Given the description of an element on the screen output the (x, y) to click on. 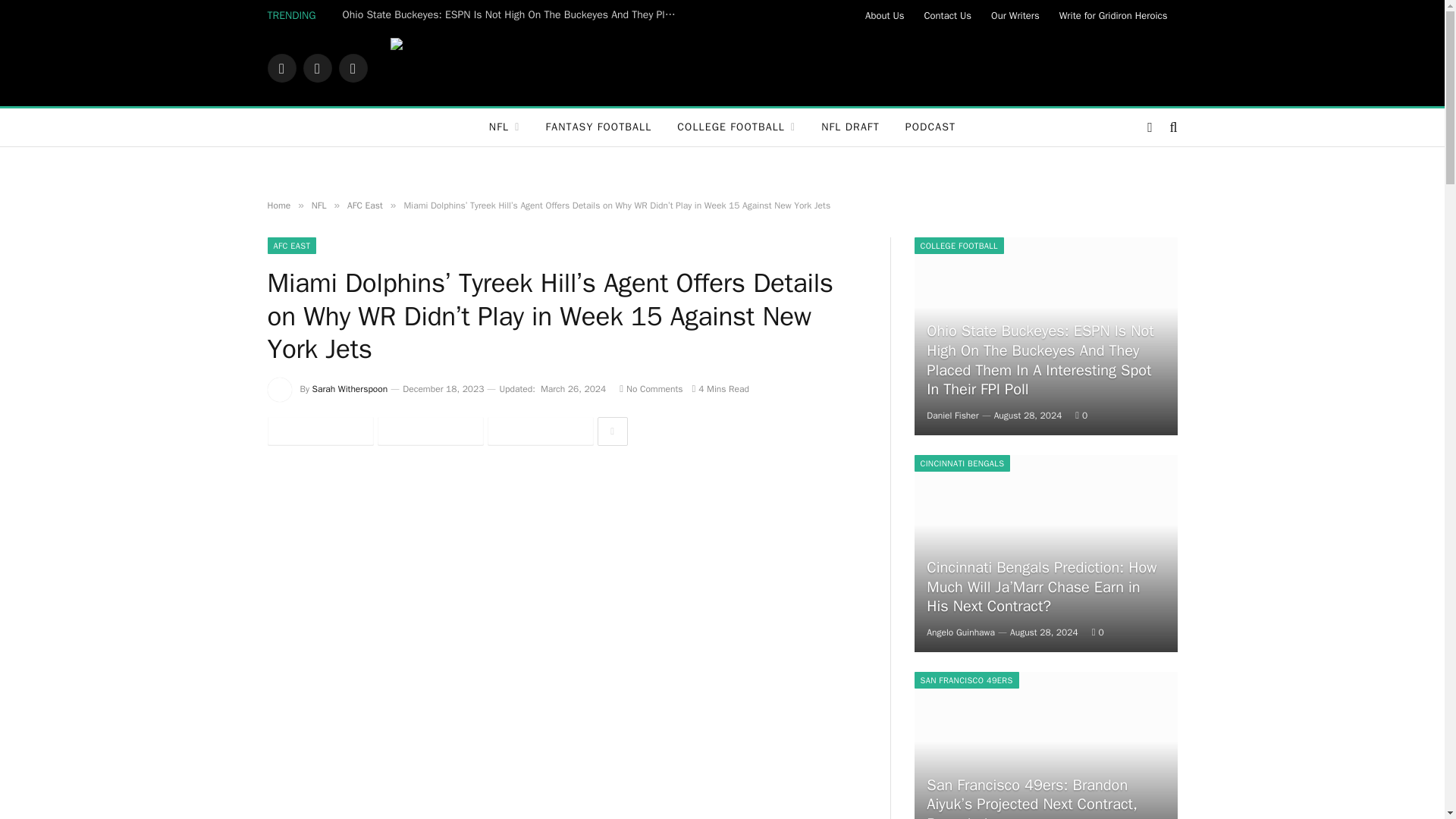
Show More Social Sharing (611, 430)
Share on Pinterest (539, 430)
Posts by Sarah Witherspoon (350, 388)
Share on Facebook (319, 430)
Switch to Dark Design - easier on eyes. (1149, 127)
Gridiron Heroics (923, 68)
